Given the description of an element on the screen output the (x, y) to click on. 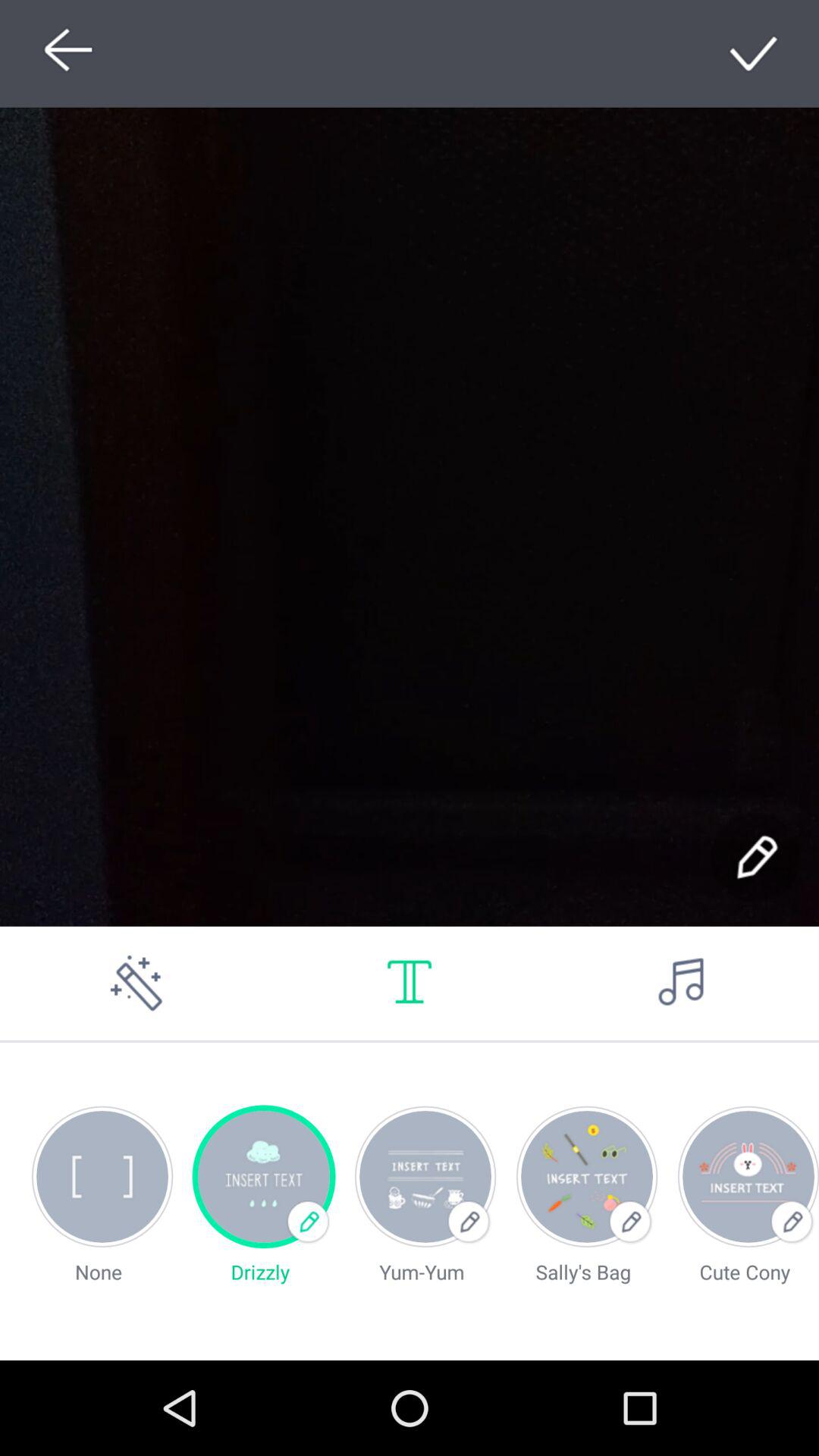
select design (754, 53)
